Given the description of an element on the screen output the (x, y) to click on. 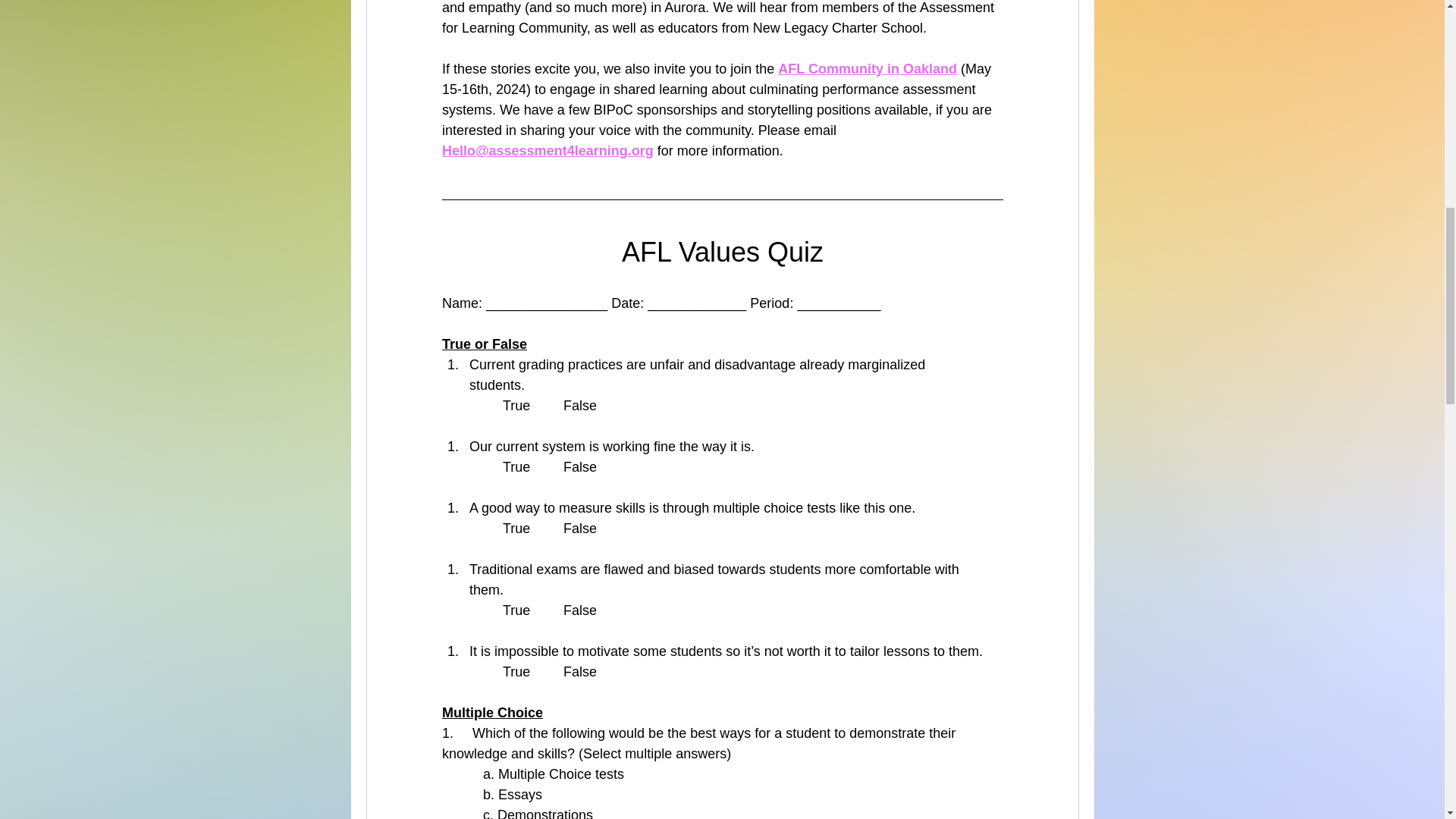
AFL Community in Oakland (866, 68)
